Given the description of an element on the screen output the (x, y) to click on. 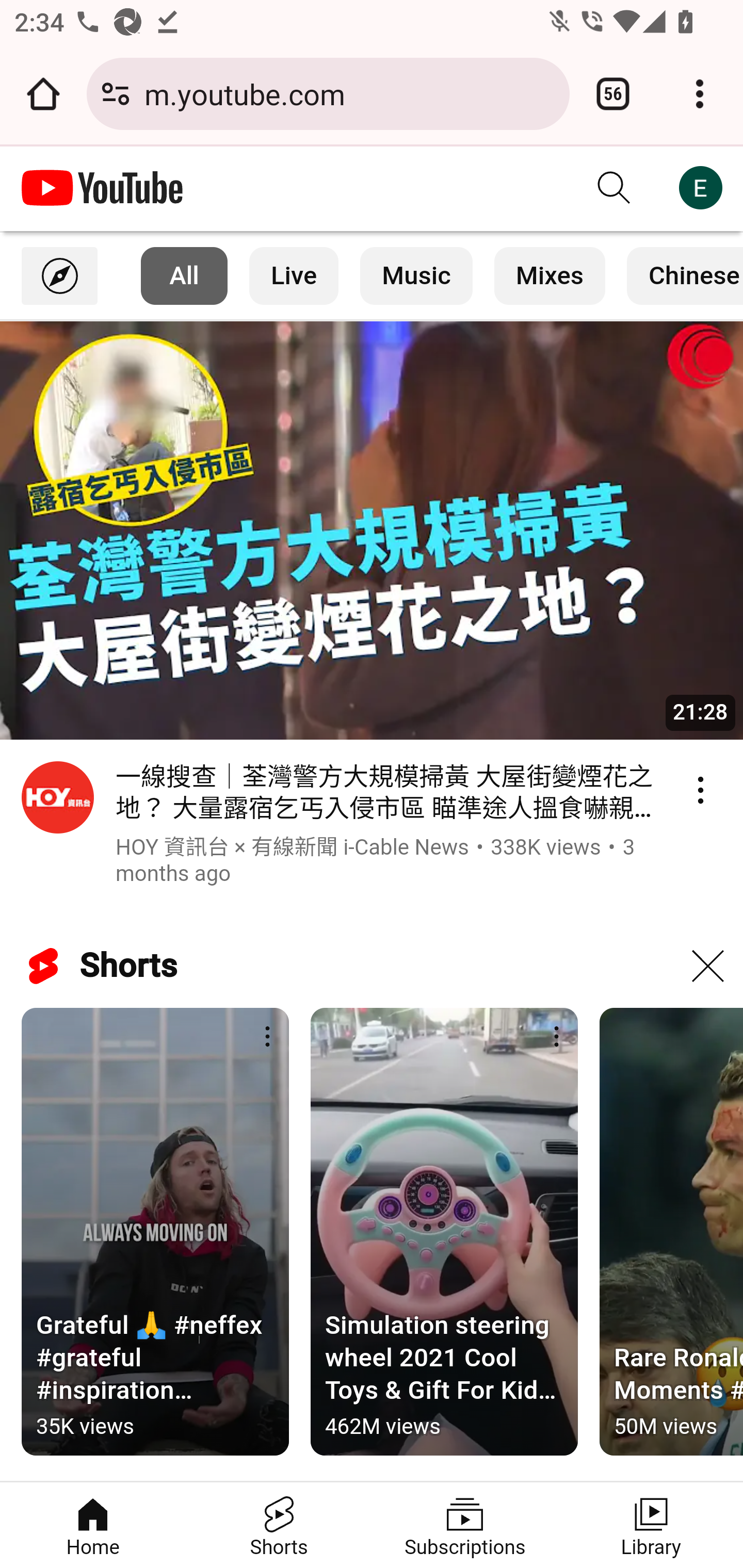
Open the home page (43, 93)
Connection is secure (115, 93)
Switch or close tabs (612, 93)
Customize and control Google Chrome (699, 93)
m.youtube.com (349, 92)
YouTube (102, 188)
Search YouTube (614, 188)
Account (700, 188)
Explore (59, 274)
All (184, 274)
Live (293, 274)
Music (415, 274)
Mixes (549, 274)
Chinese television dramas (684, 274)
watch?v=eGWKQWP0oiE (371, 530)
Action menu (700, 789)
Go to channel (58, 801)
Not interested (707, 966)
More actions (267, 1037)
More actions (556, 1037)
Home (93, 1524)
Shorts (278, 1524)
Subscriptions (465, 1524)
Library (649, 1524)
